Given the description of an element on the screen output the (x, y) to click on. 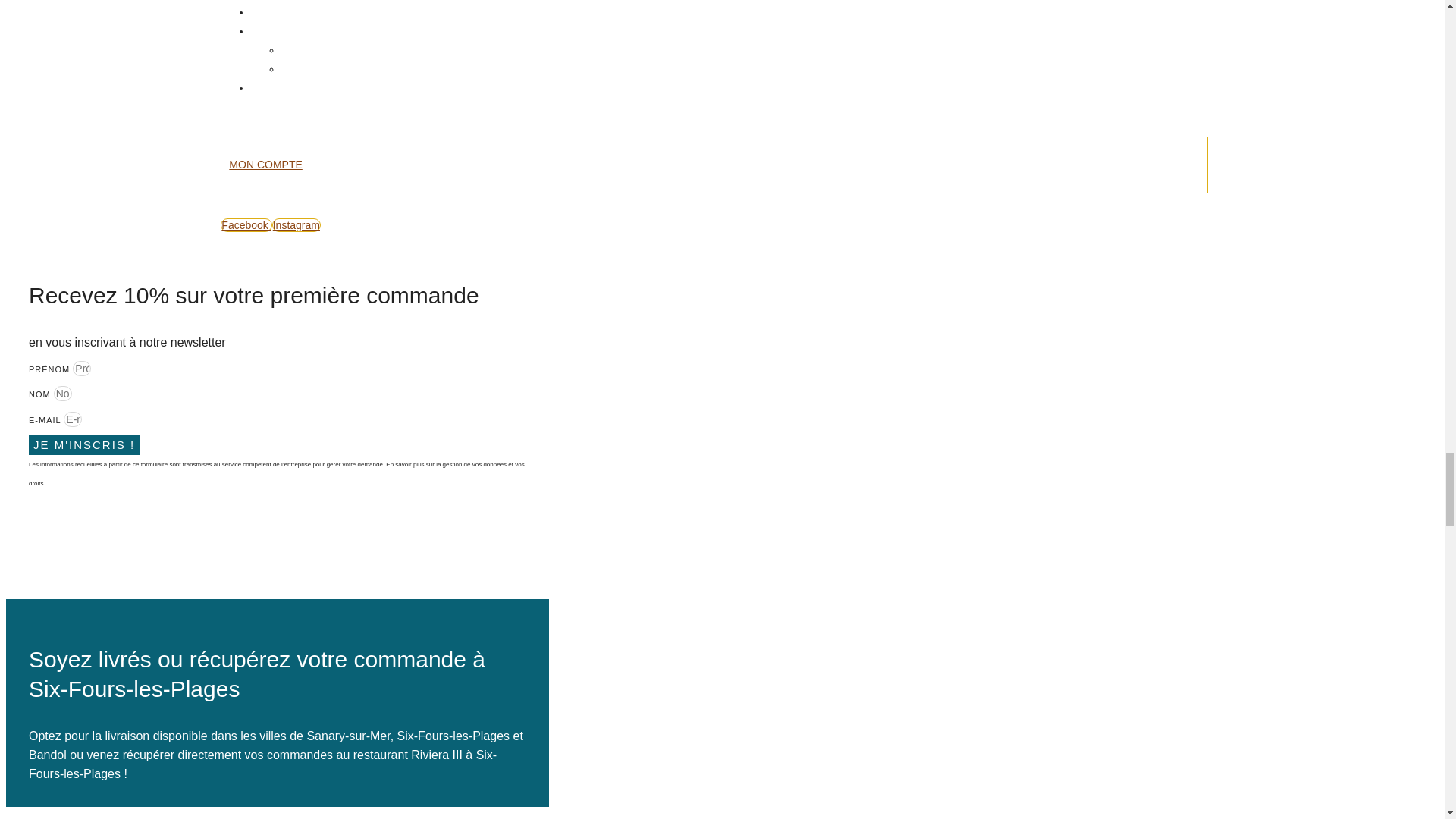
MON COMPTE (714, 164)
Facebook Instagram (714, 225)
